Given the description of an element on the screen output the (x, y) to click on. 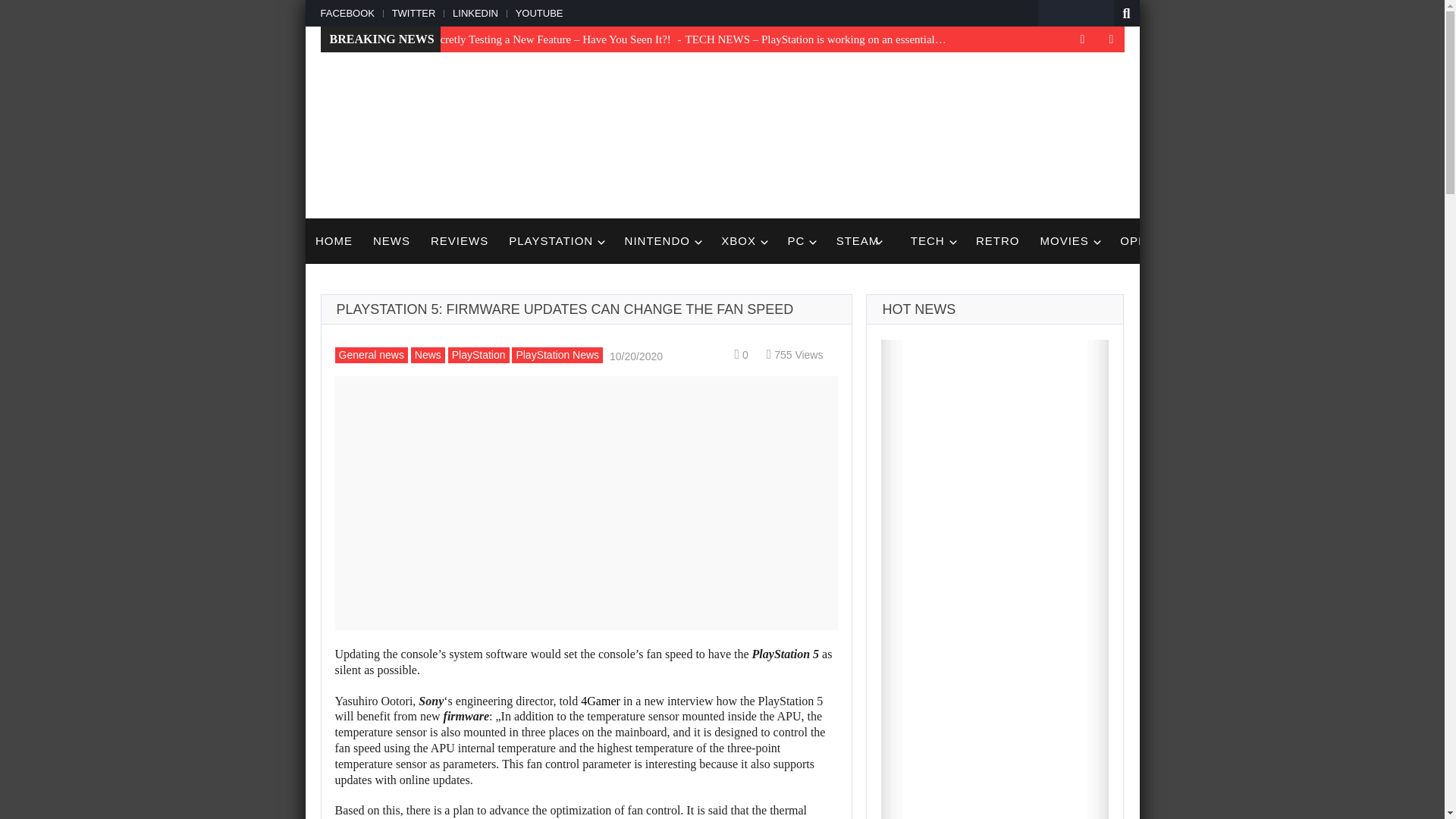
TWITTER (411, 12)
PlayStation 5: Firmware Updates Can Change The Fan Speed (586, 502)
Advertisement (848, 133)
YOUTUBE (537, 12)
LINKEDIN (473, 12)
FACEBOOK (350, 12)
5:52 pm (633, 354)
